Given the description of an element on the screen output the (x, y) to click on. 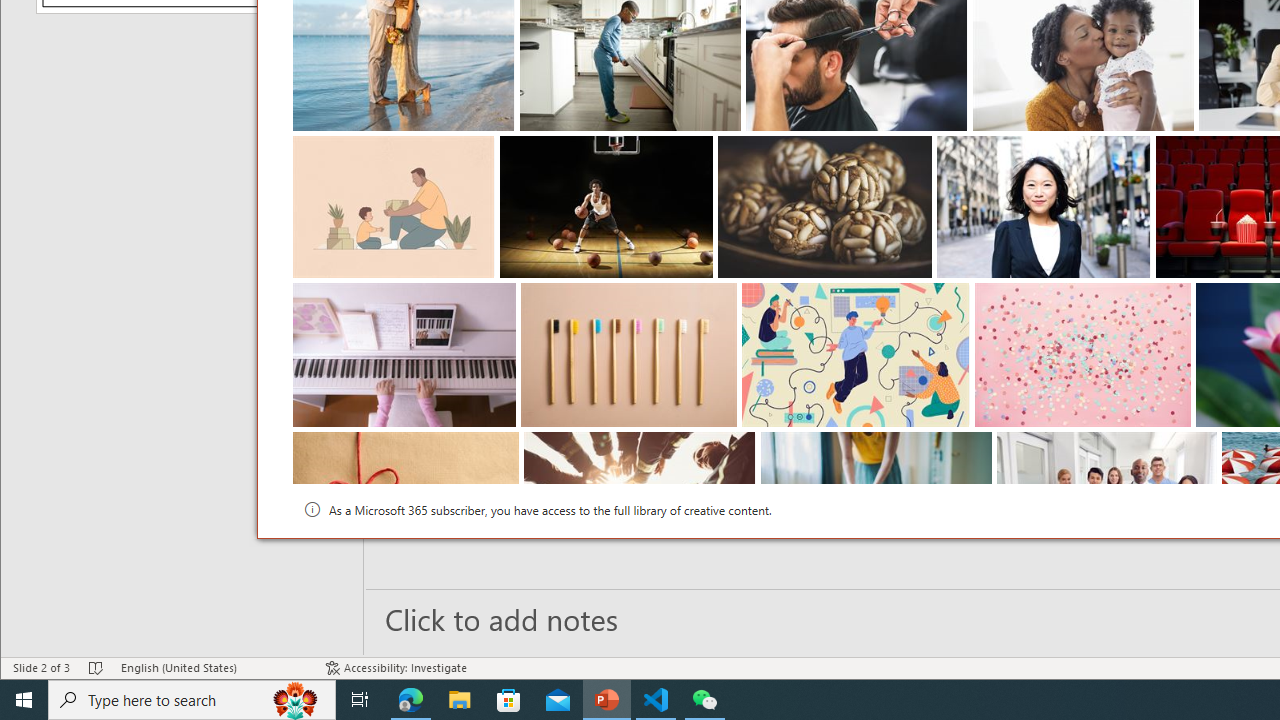
Thumbnail (1201, 447)
